Given the description of an element on the screen output the (x, y) to click on. 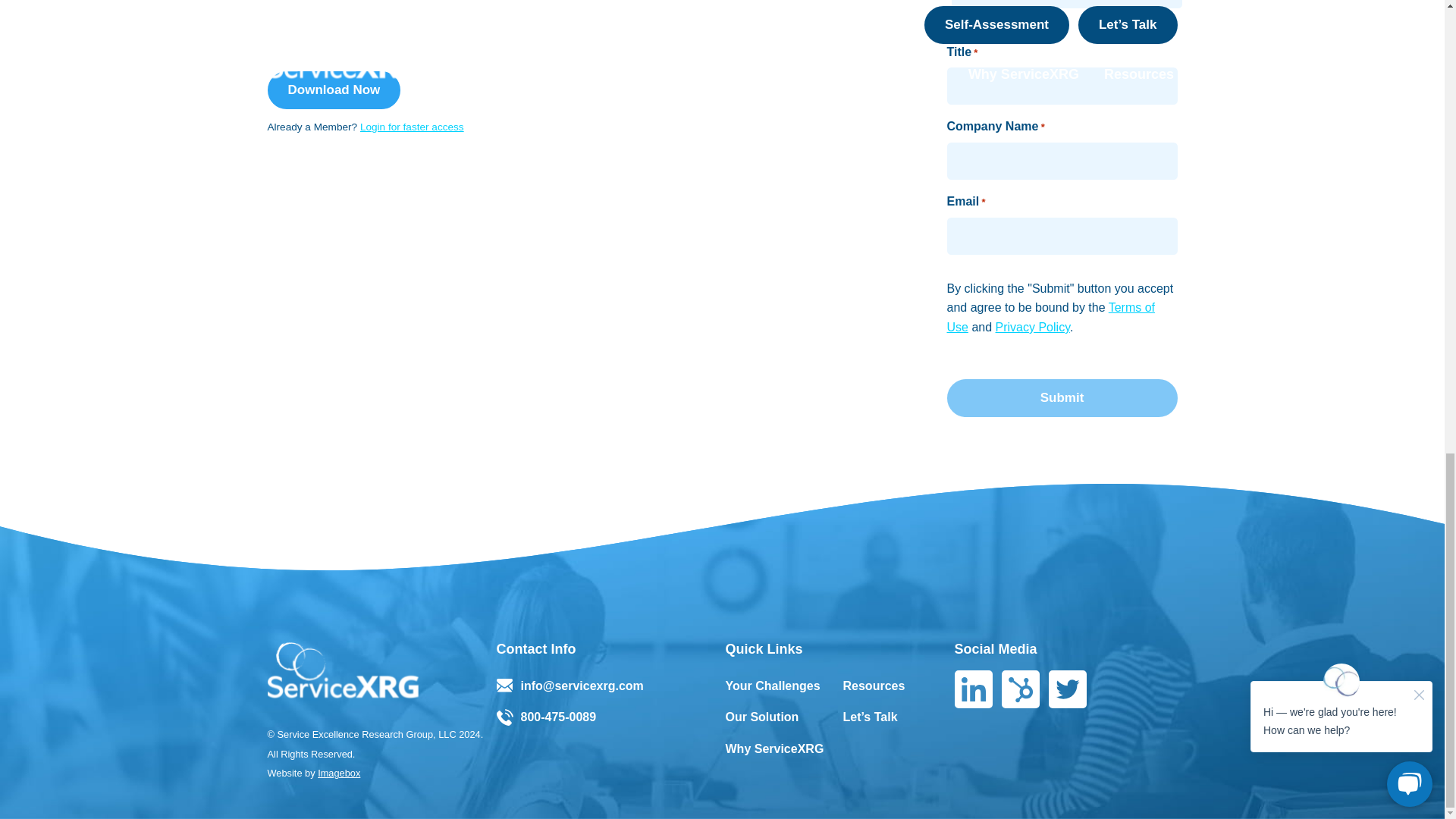
Submit (1061, 397)
